Given the description of an element on the screen output the (x, y) to click on. 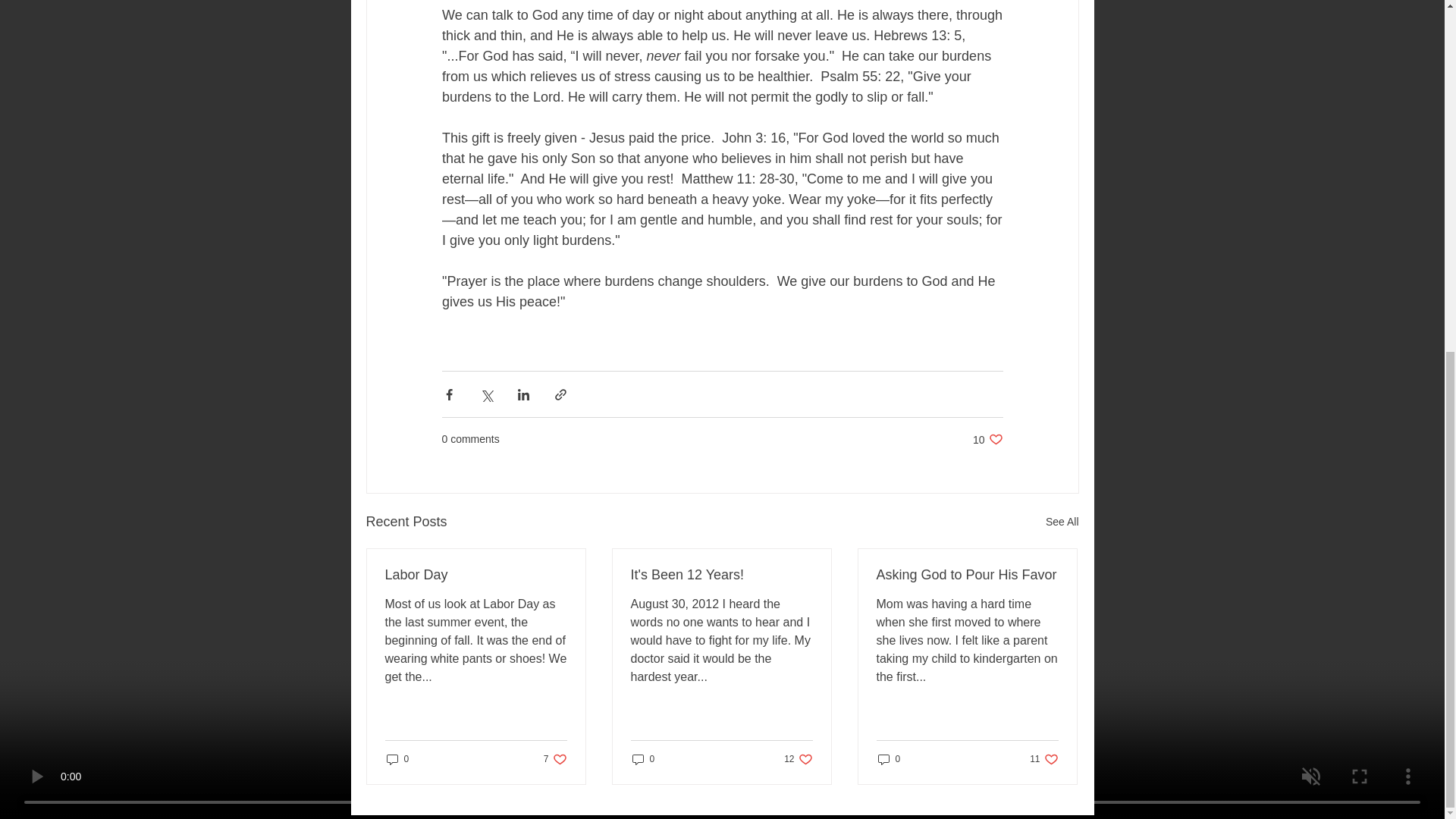
0 (397, 759)
Labor Day (476, 575)
0 (889, 759)
See All (555, 759)
It's Been 12 Years! (987, 439)
0 (1061, 522)
Asking God to Pour His Favor (721, 575)
